Given the description of an element on the screen output the (x, y) to click on. 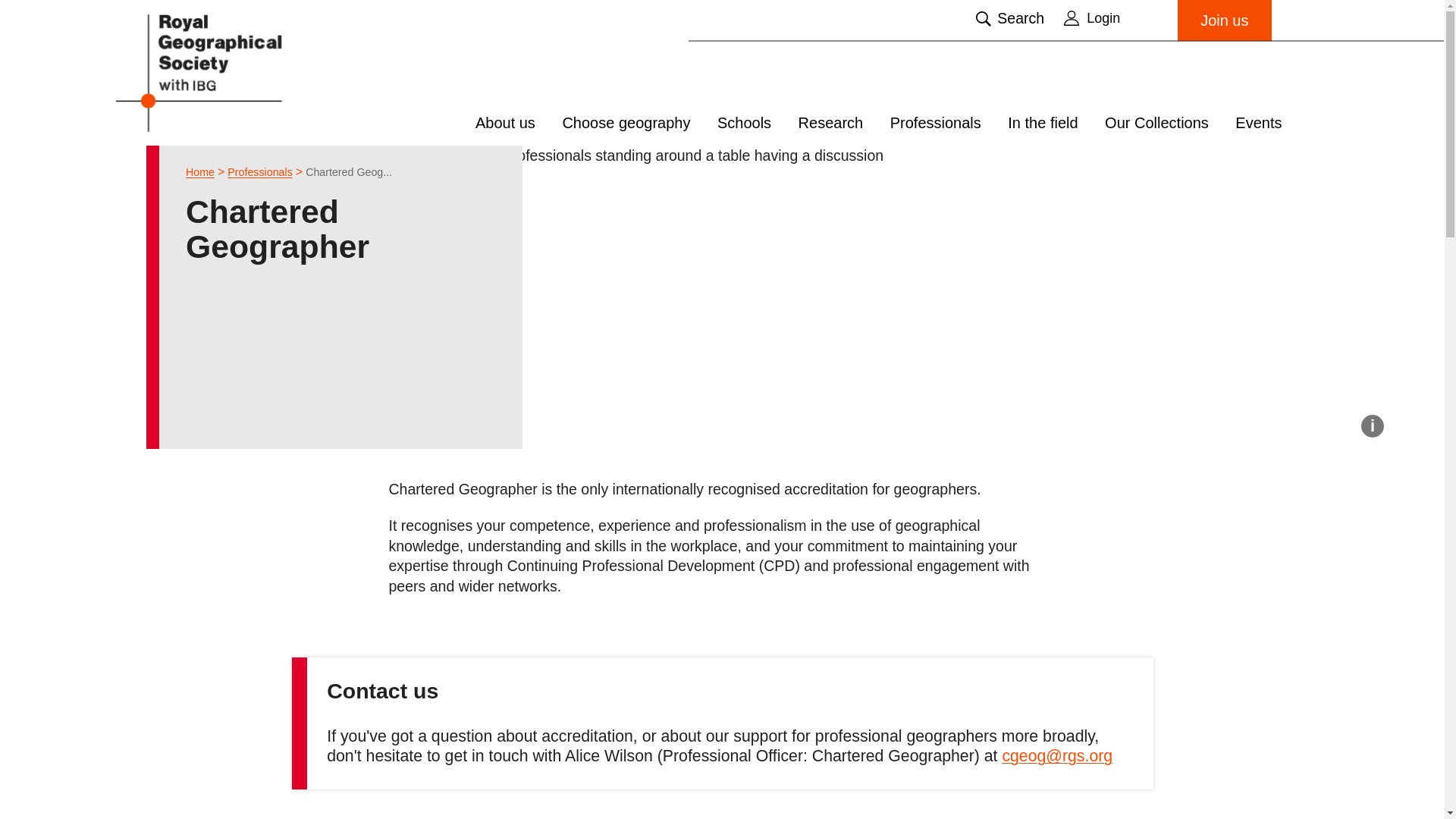
Royal Geographical Society (236, 72)
About us (505, 122)
Choose geography (626, 122)
Chartered Geographer (348, 172)
Schools (744, 122)
Research (830, 122)
Search (1009, 18)
Login (1112, 17)
Home (200, 172)
Professionals (259, 172)
